Given the description of an element on the screen output the (x, y) to click on. 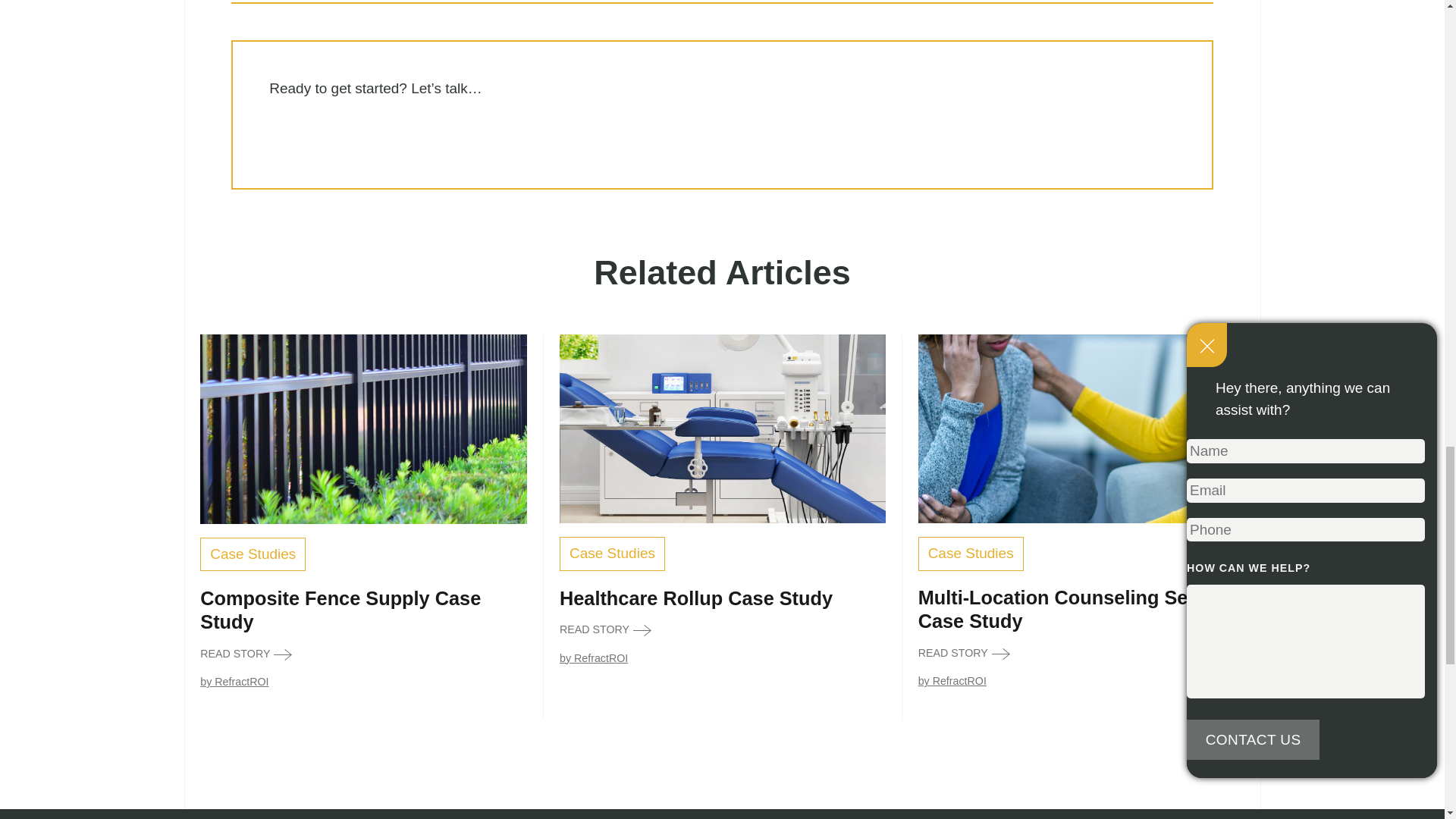
CONTACT (309, 134)
